Given the description of an element on the screen output the (x, y) to click on. 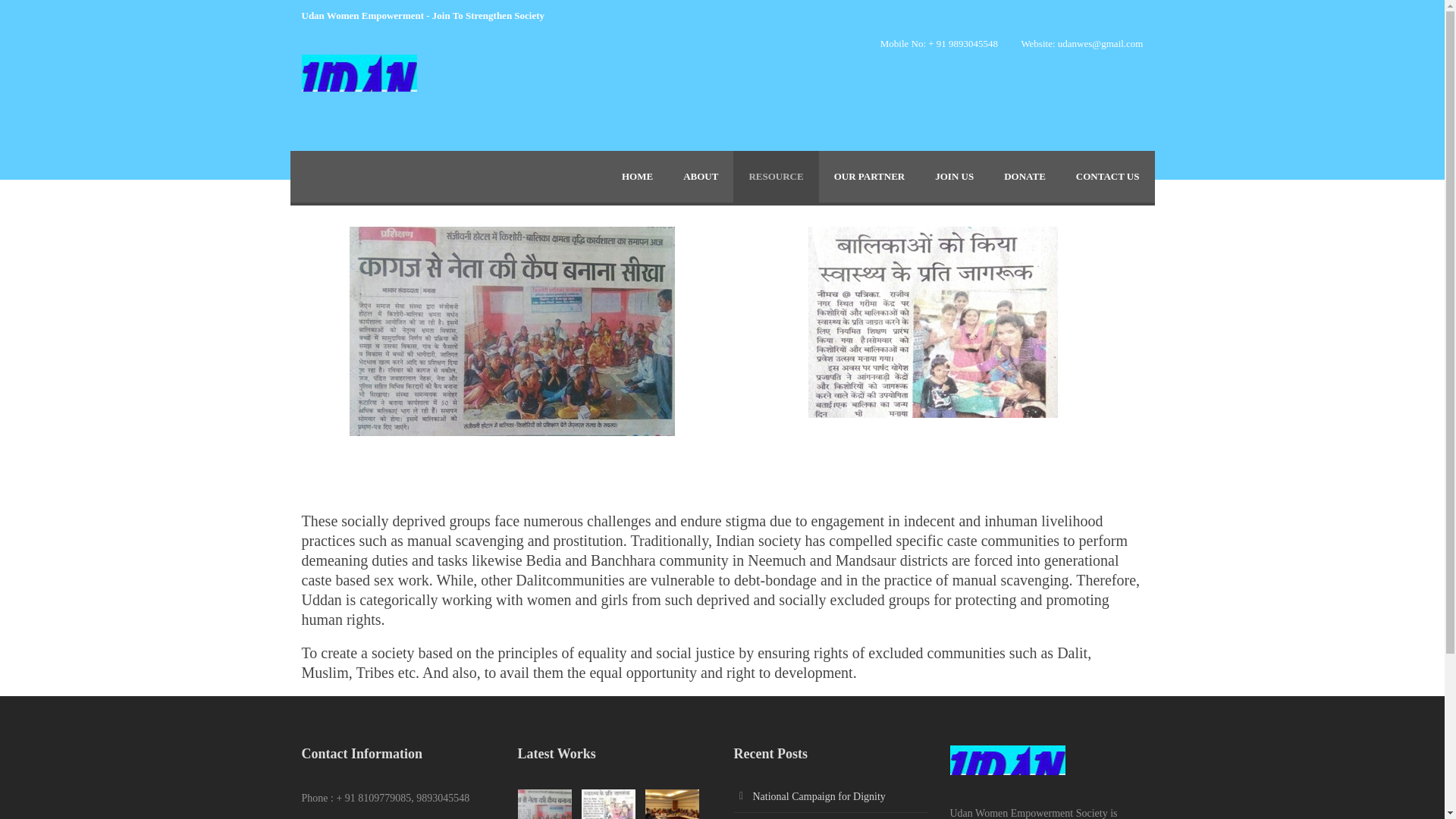
RESOURCE (775, 176)
OUR PARTNER (869, 176)
DONATE (1024, 176)
CONTACT US (1107, 176)
ABOUT (700, 176)
JOIN US (954, 176)
HOME (637, 176)
